Given the description of an element on the screen output the (x, y) to click on. 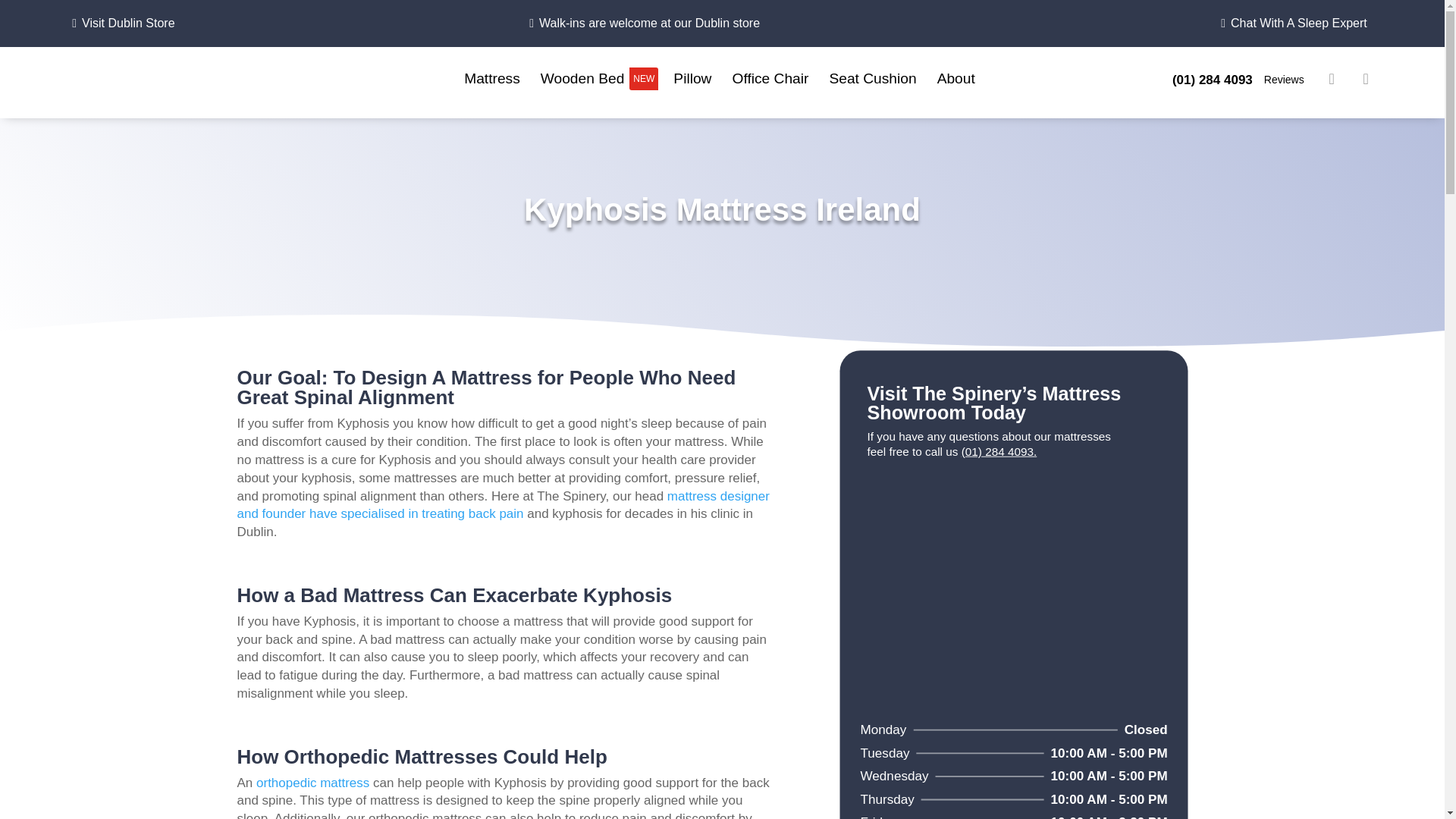
About (958, 78)
Seat Cushion (874, 78)
Reviews (599, 78)
Mattress (1282, 80)
Office Chair (494, 78)
Pillow (772, 78)
